Given the description of an element on the screen output the (x, y) to click on. 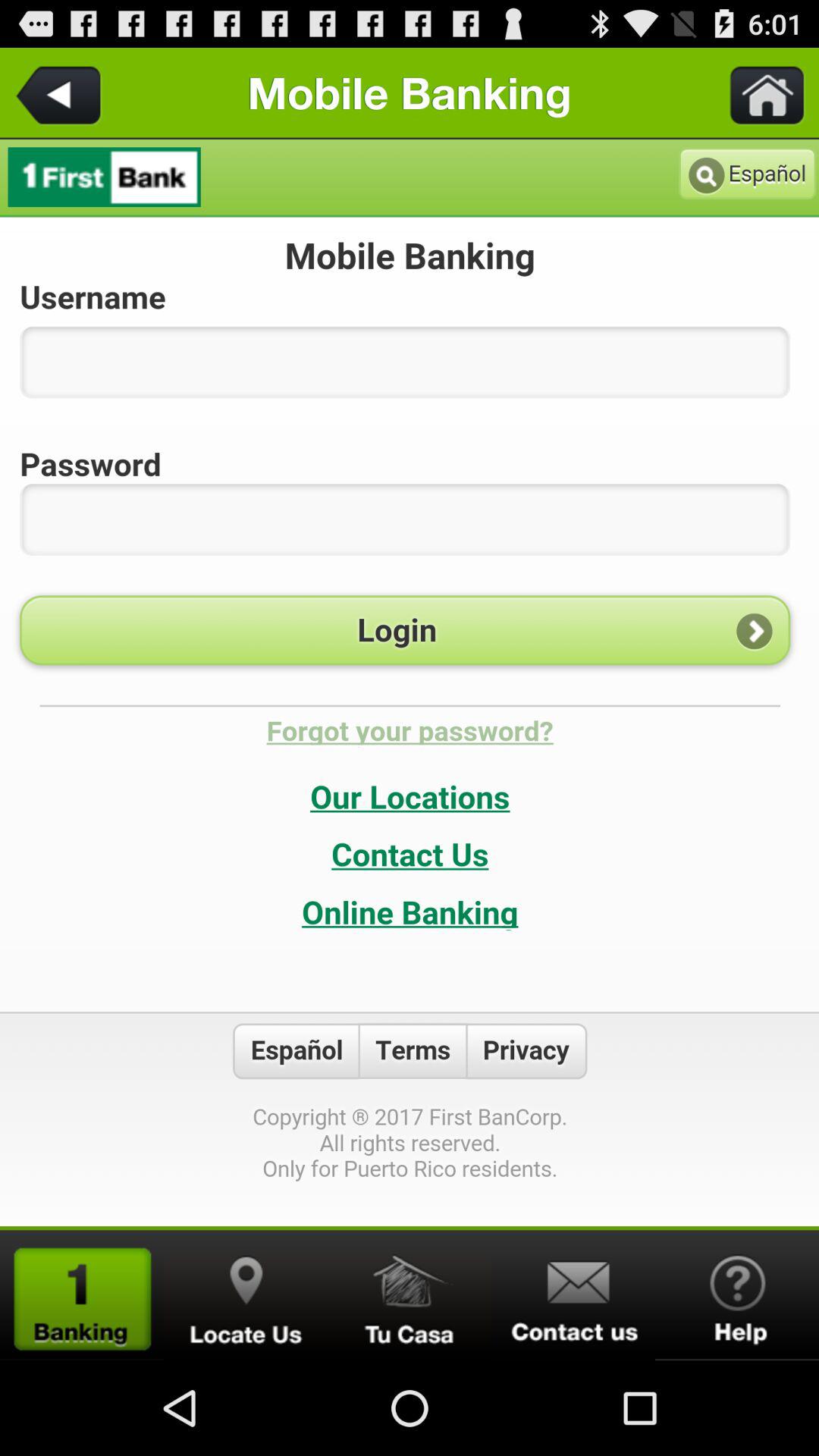
go to ranking (81, 1295)
